Given the description of an element on the screen output the (x, y) to click on. 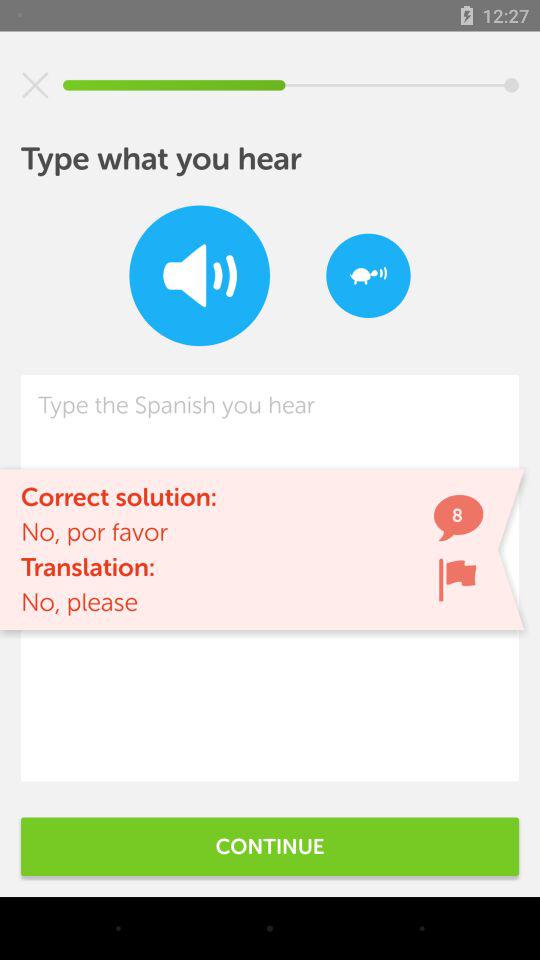
stop playing (35, 85)
